Given the description of an element on the screen output the (x, y) to click on. 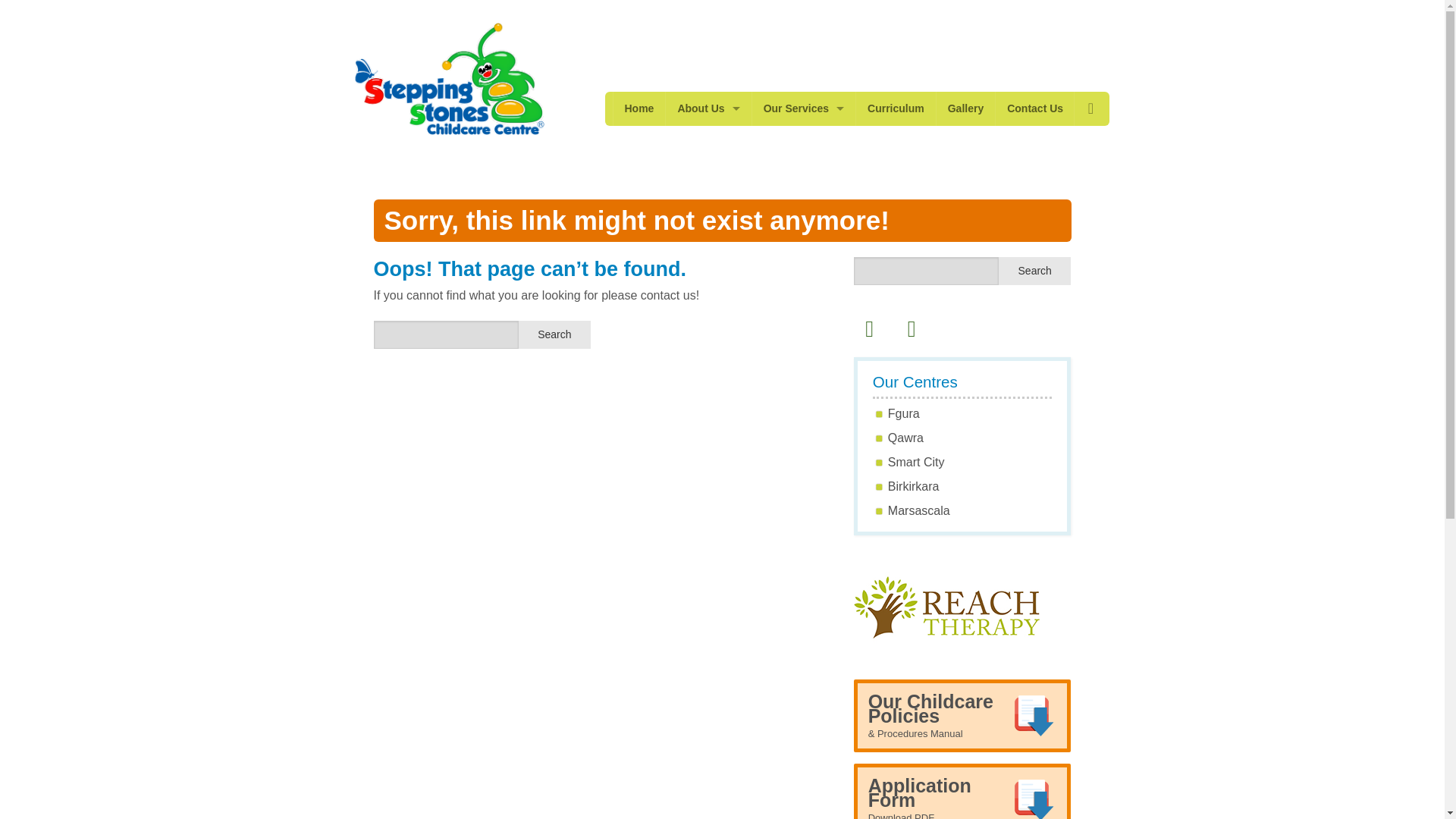
Meet The Team (708, 142)
Mission Statement (708, 176)
Marsascala (919, 510)
Search (554, 334)
Testimonials (962, 793)
Contact Us (708, 211)
Stepping Stones Childcare (1034, 108)
Our Services (449, 77)
Home (804, 108)
